Given the description of an element on the screen output the (x, y) to click on. 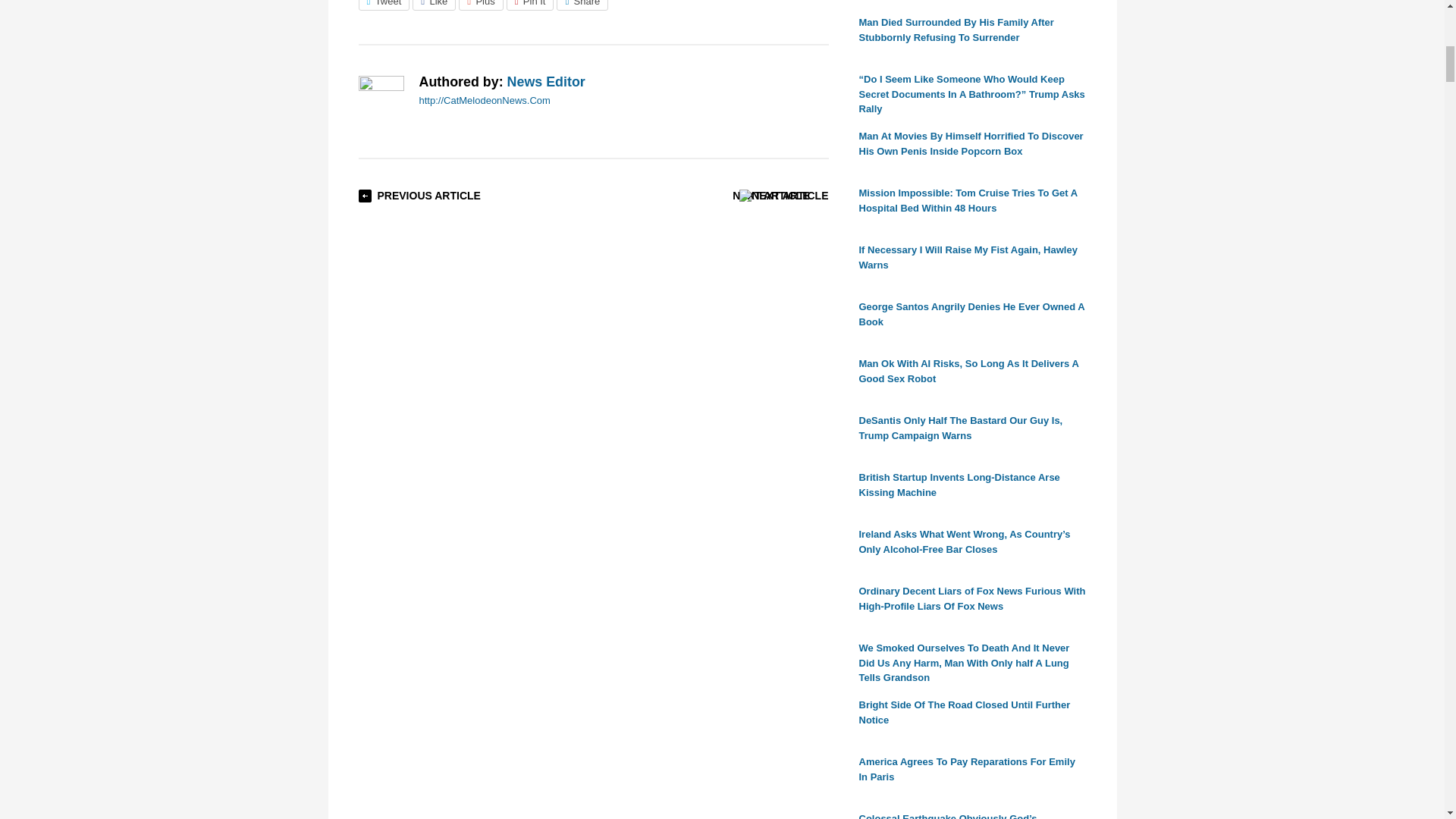
NEXT ARTICLE (770, 195)
Like (433, 5)
George Santos Angrily Denies He Ever Owned A Book (971, 314)
Share on Twitter (383, 5)
America Agrees To Pay Reparations For Emily In Paris (966, 768)
Share on LinkedIn (582, 5)
Bright Side Of The Road Closed Until Further Notice (964, 712)
